Given the description of an element on the screen output the (x, y) to click on. 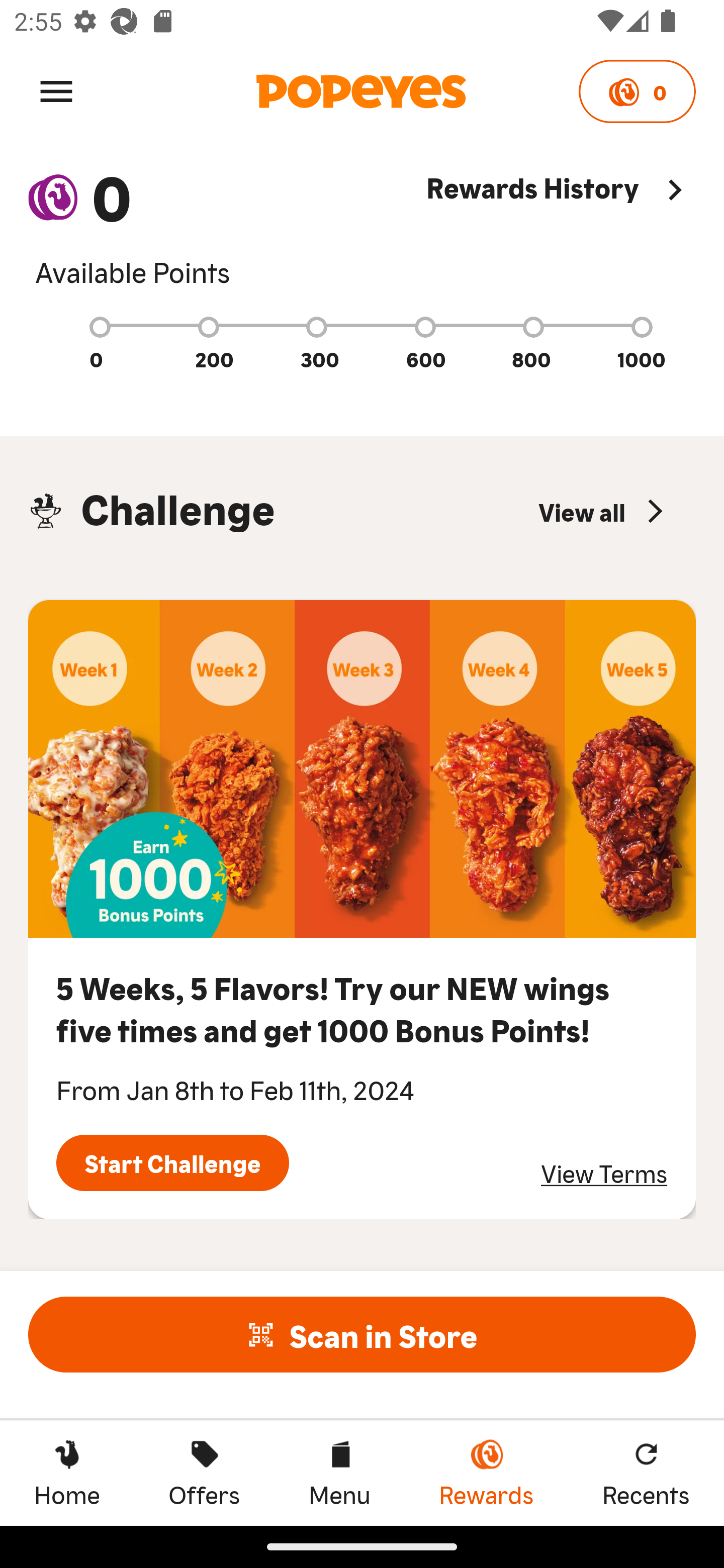
Menu  (56, 90)
0 Points 0 (636, 91)
Rewards History Rewards History  (560, 228)
View all (602, 511)
quest image (361, 768)
Start Challenge (172, 1163)
View Terms (603, 1172)
Scan in Store  Scan in Store (361, 1334)
Home Home Home (66, 1472)
Offers Offers Offers (203, 1472)
Menu Menu Menu (339, 1472)
Recents Recents Recents (646, 1472)
